Given the description of an element on the screen output the (x, y) to click on. 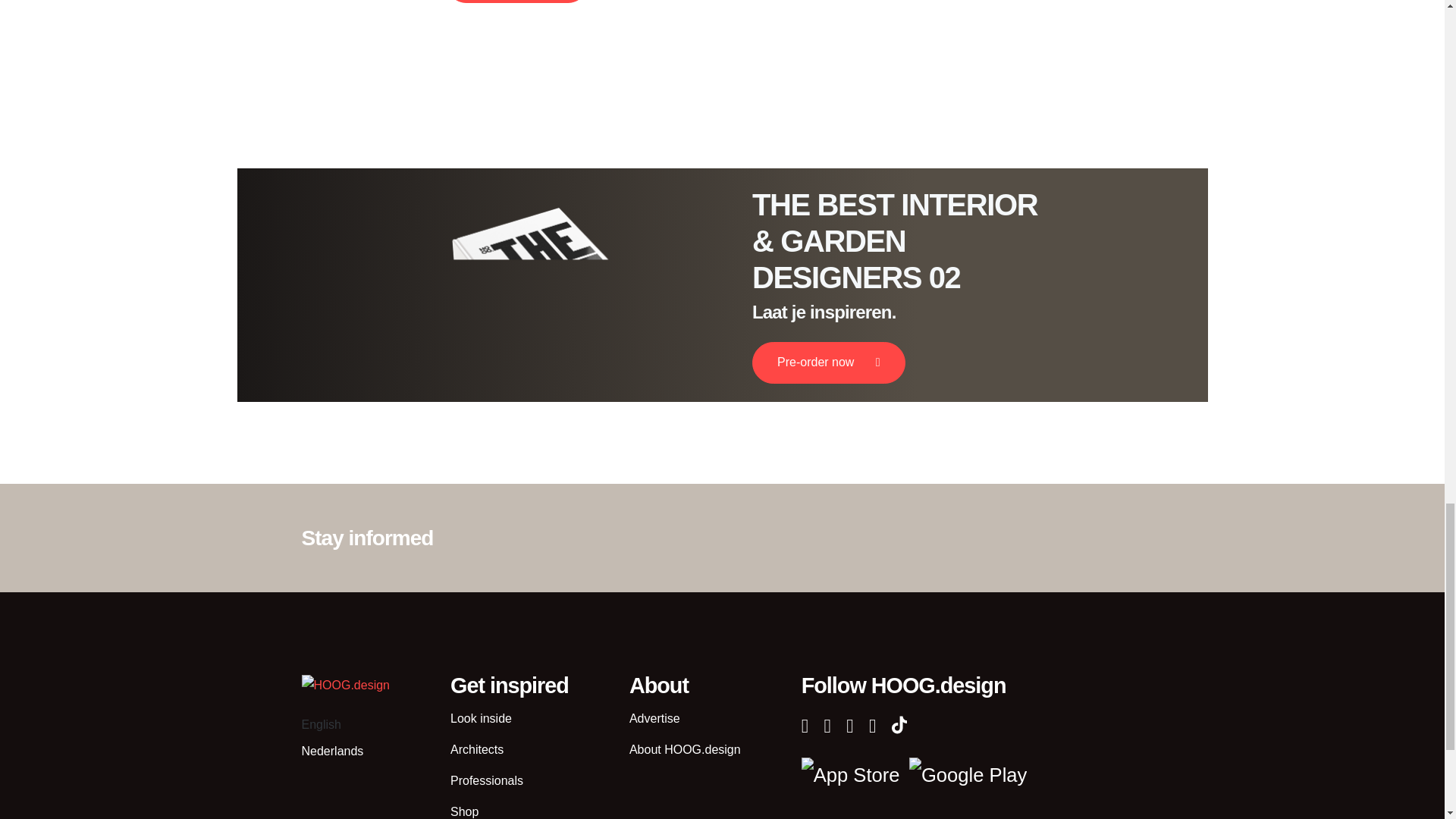
Shop (464, 810)
Professionals (485, 781)
Architects (476, 750)
Advertise (653, 719)
About HOOG.design (684, 750)
Look inside (480, 719)
